Given the description of an element on the screen output the (x, y) to click on. 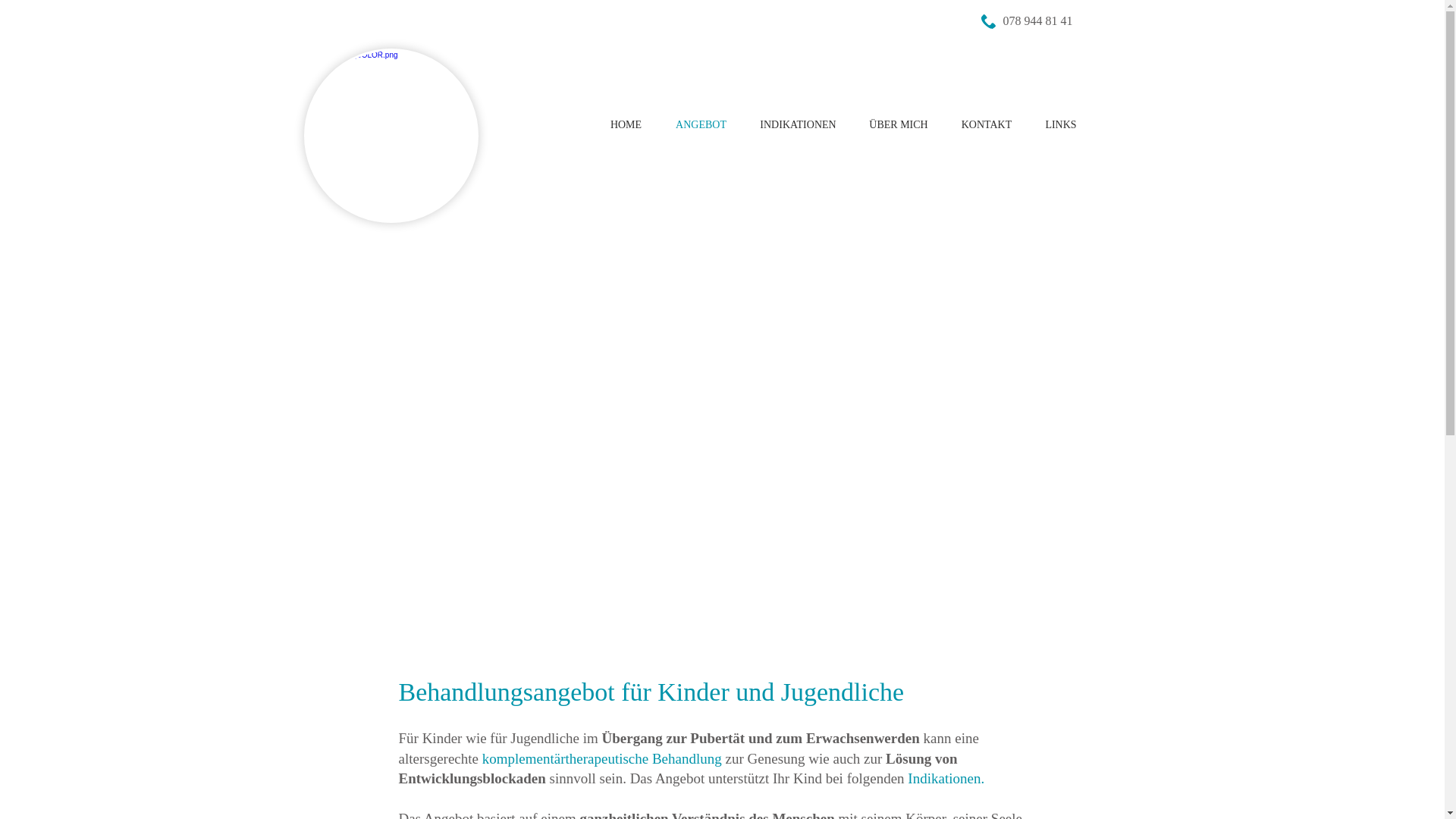
Indikationen. Element type: text (945, 778)
LINKS Element type: text (1060, 124)
INDIKATIONEN Element type: text (797, 124)
HOME Element type: text (625, 124)
KONTAKT Element type: text (986, 124)
ANGEBOT Element type: text (700, 124)
078 944 81 41 Element type: text (1037, 20)
